Given the description of an element on the screen output the (x, y) to click on. 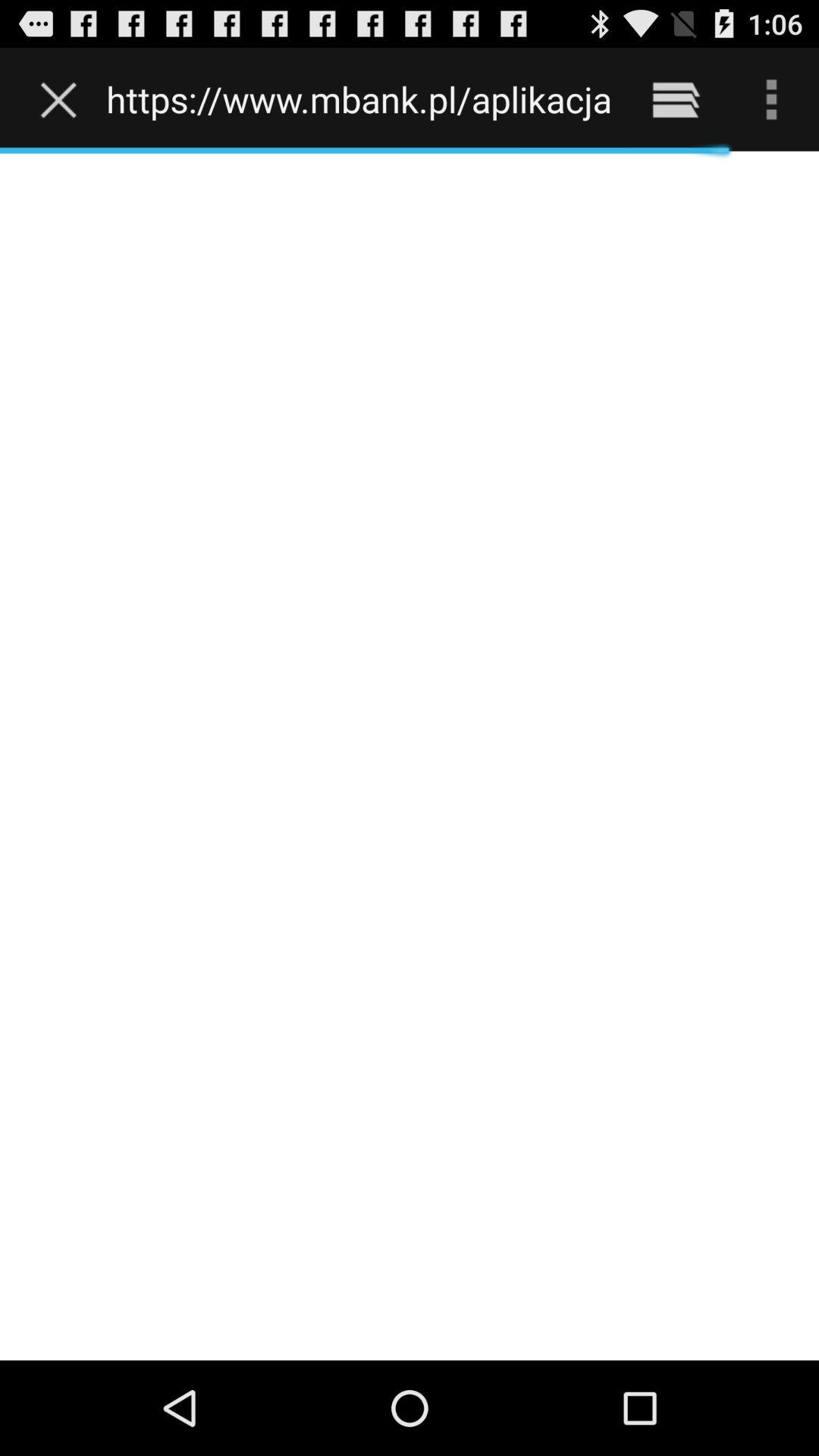
choose icon to the left of https www mbank icon (62, 99)
